Given the description of an element on the screen output the (x, y) to click on. 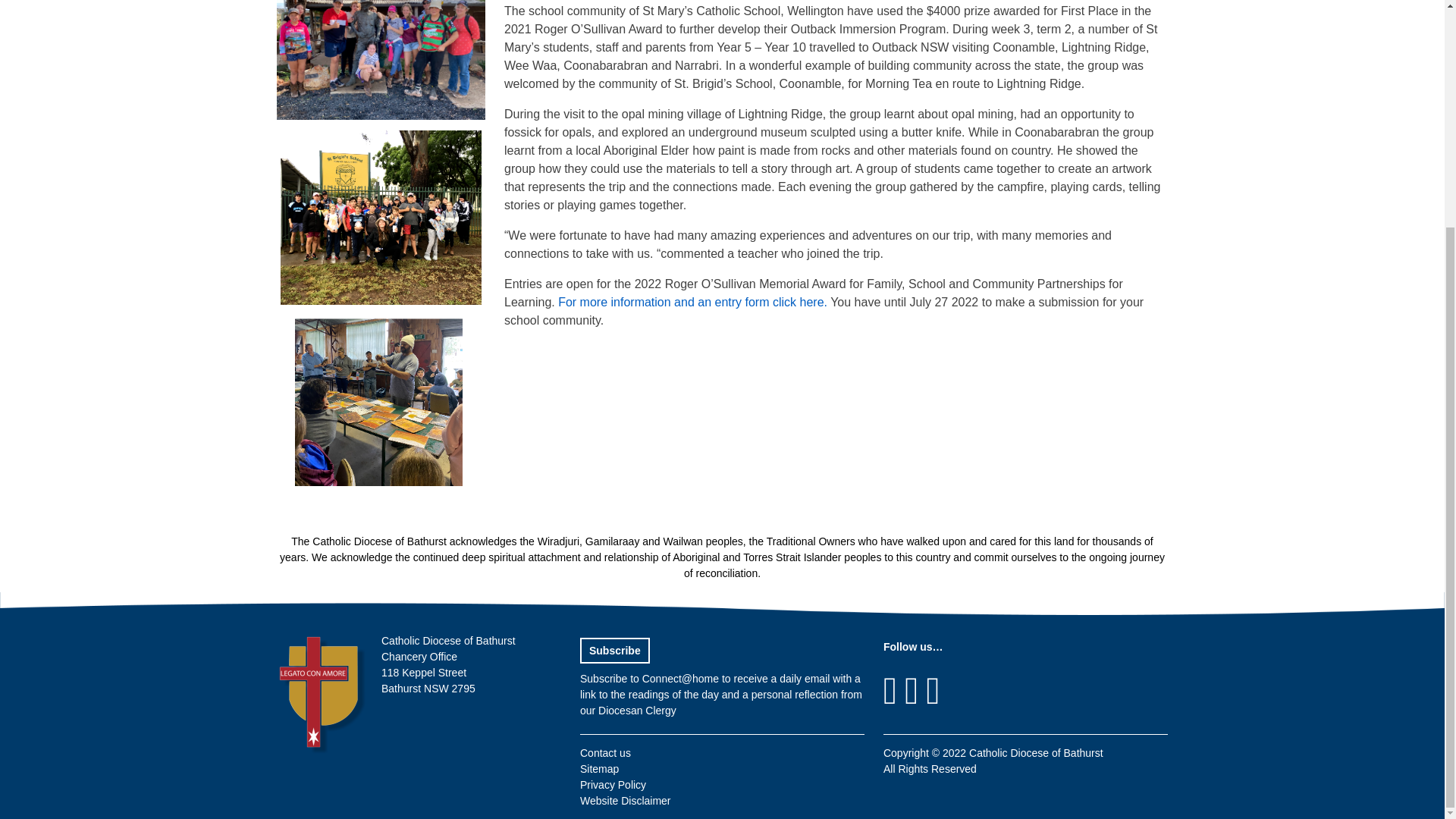
Sitemap (598, 768)
Contact us (604, 752)
Privacy Statement (612, 784)
Disclaimer (625, 800)
